Given the description of an element on the screen output the (x, y) to click on. 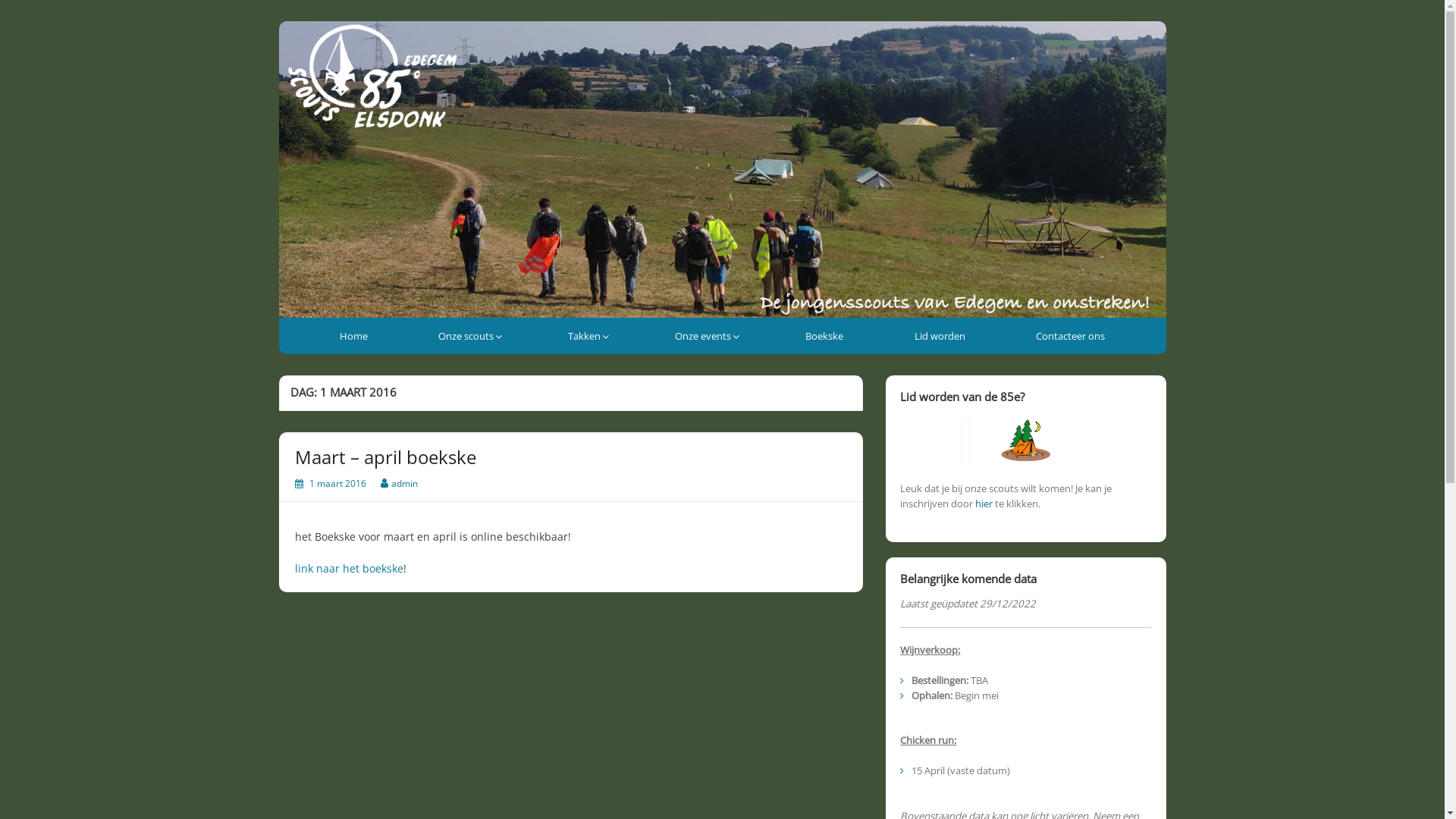
85e Elsdonk Scouts, Edegem Element type: text (426, 34)
Boekske Element type: text (824, 335)
admin Element type: text (404, 482)
link naar het boekske Element type: text (348, 568)
Contacteer ons Element type: text (1070, 335)
1 maart 2016 Element type: text (337, 482)
Onze scouts Element type: text (467, 335)
Home Element type: text (353, 335)
Takken Element type: text (586, 335)
Lid worden Element type: text (939, 335)
Onze events Element type: text (704, 335)
hier Element type: text (983, 503)
